Given the description of an element on the screen output the (x, y) to click on. 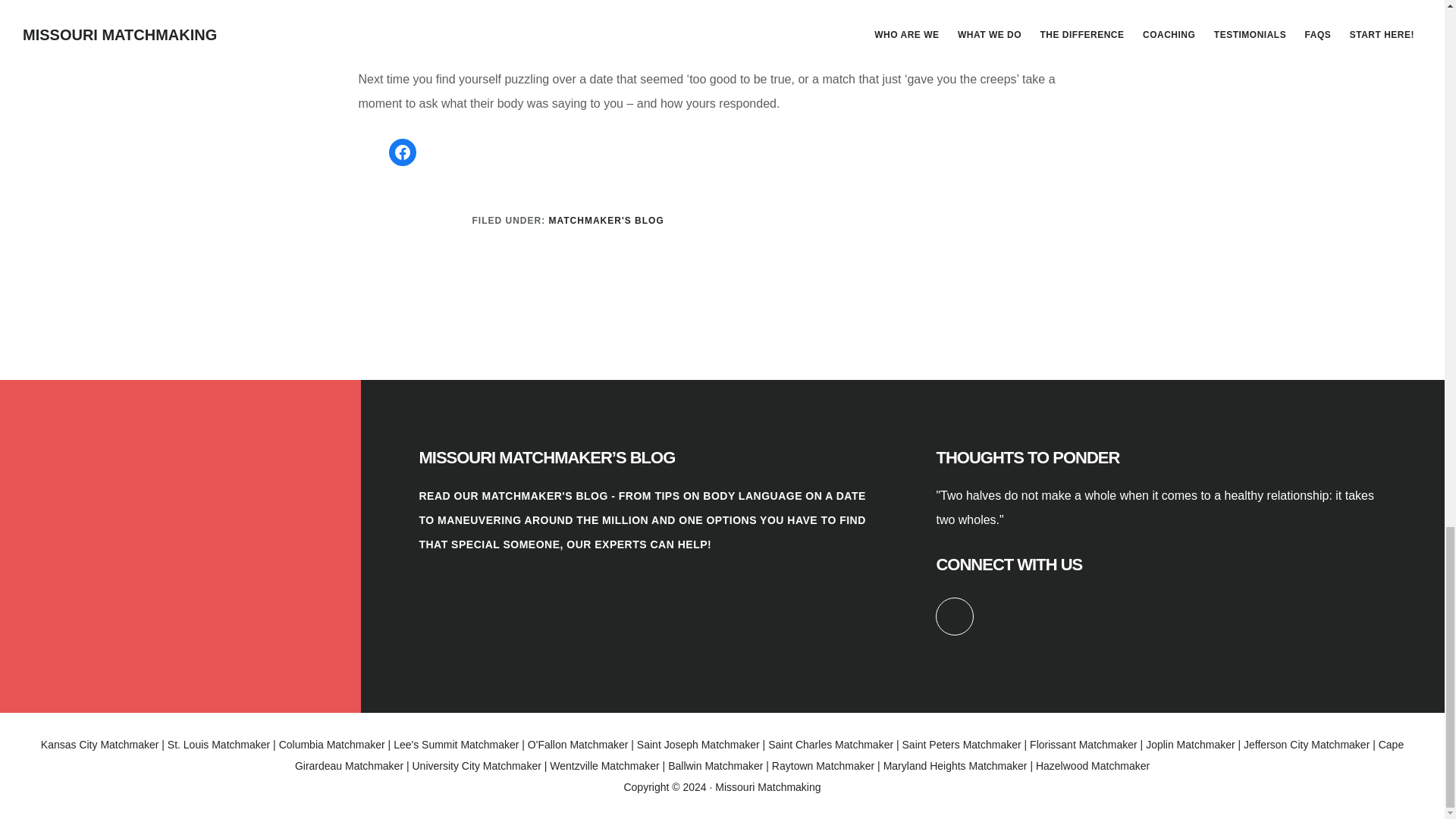
Wentzville Matchmaker (604, 766)
Lee's Summit Matchmaker (455, 744)
Hazelwood Matchmaker (1092, 766)
Raytown Matchmaker (823, 766)
Columbia Matchmaker (332, 744)
St. Louis Matchmaker (218, 744)
Saint Peters Matchmaker (962, 744)
Ballwin Matchmaker (715, 766)
Cape Girardeau Matchmaker (849, 755)
MATCHMAKER'S BLOG (605, 220)
Joplin Matchmaker (1189, 744)
Facebook (401, 152)
Saint Charles Matchmaker (830, 744)
Florissant Matchmaker (1083, 744)
Maryland Heights Matchmaker (955, 766)
